Given the description of an element on the screen output the (x, y) to click on. 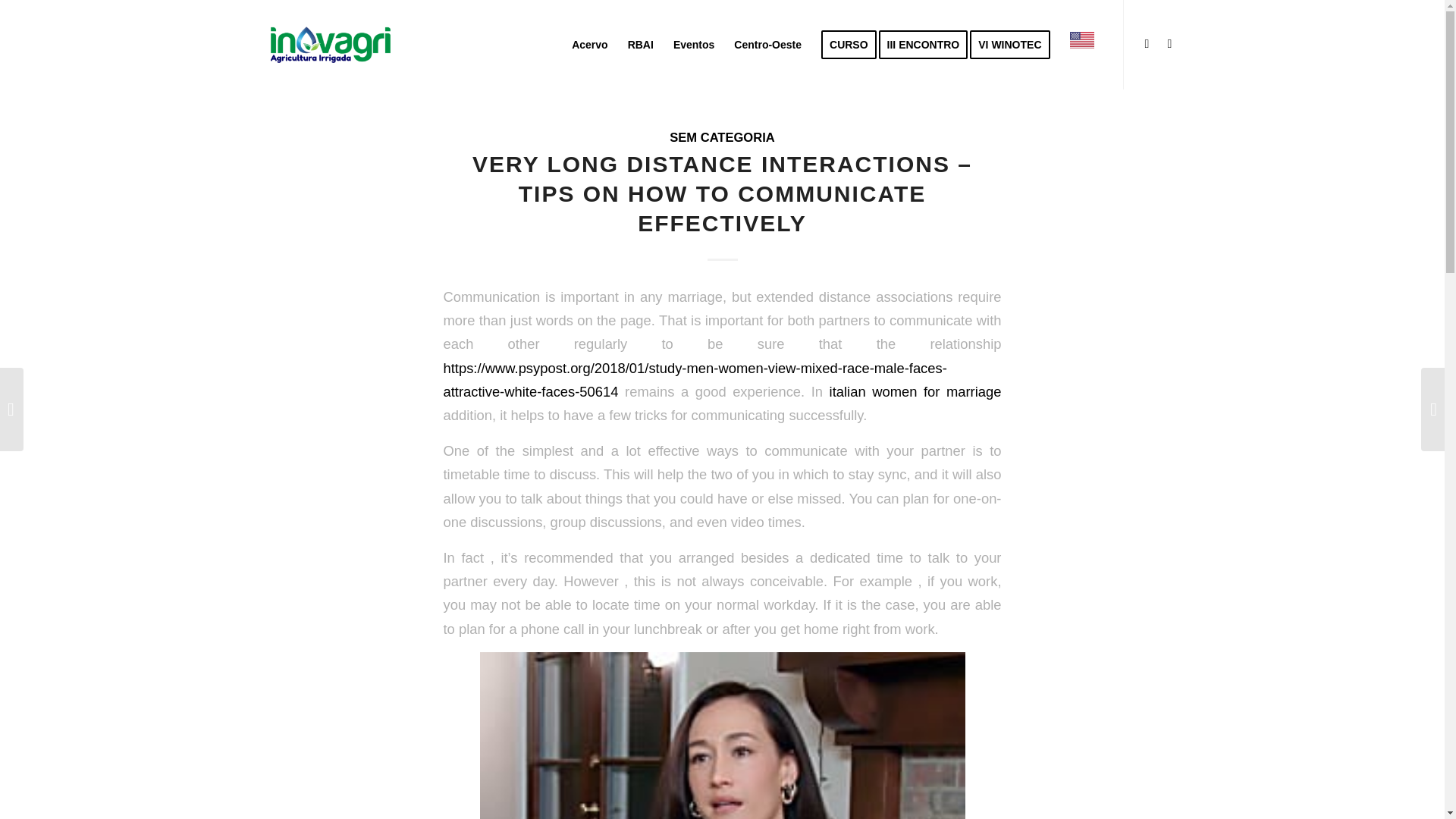
SEM CATEGORIA (721, 137)
italian women for marriage (915, 391)
Centro-Oeste (766, 44)
Facebook (1169, 43)
VI WINOTEC (1014, 44)
III ENCONTRO (928, 44)
Instagram (1146, 43)
